Given the description of an element on the screen output the (x, y) to click on. 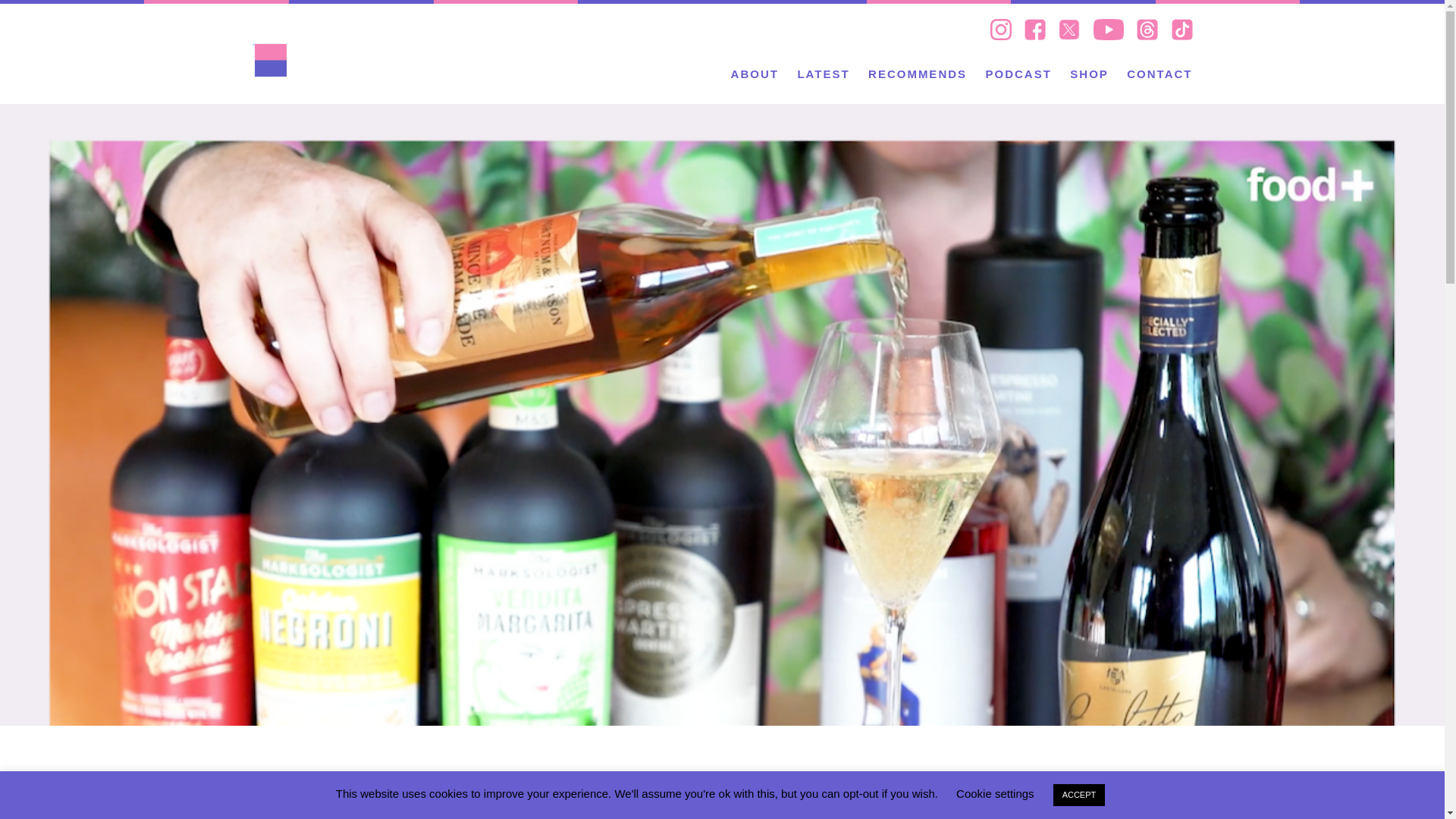
BACK TO LATEST (721, 778)
SHOP (1089, 73)
PODCAST (1018, 73)
LATEST (822, 73)
ABOUT (754, 73)
RECOMMENDS (916, 73)
CONTACT (1159, 73)
